Given the description of an element on the screen output the (x, y) to click on. 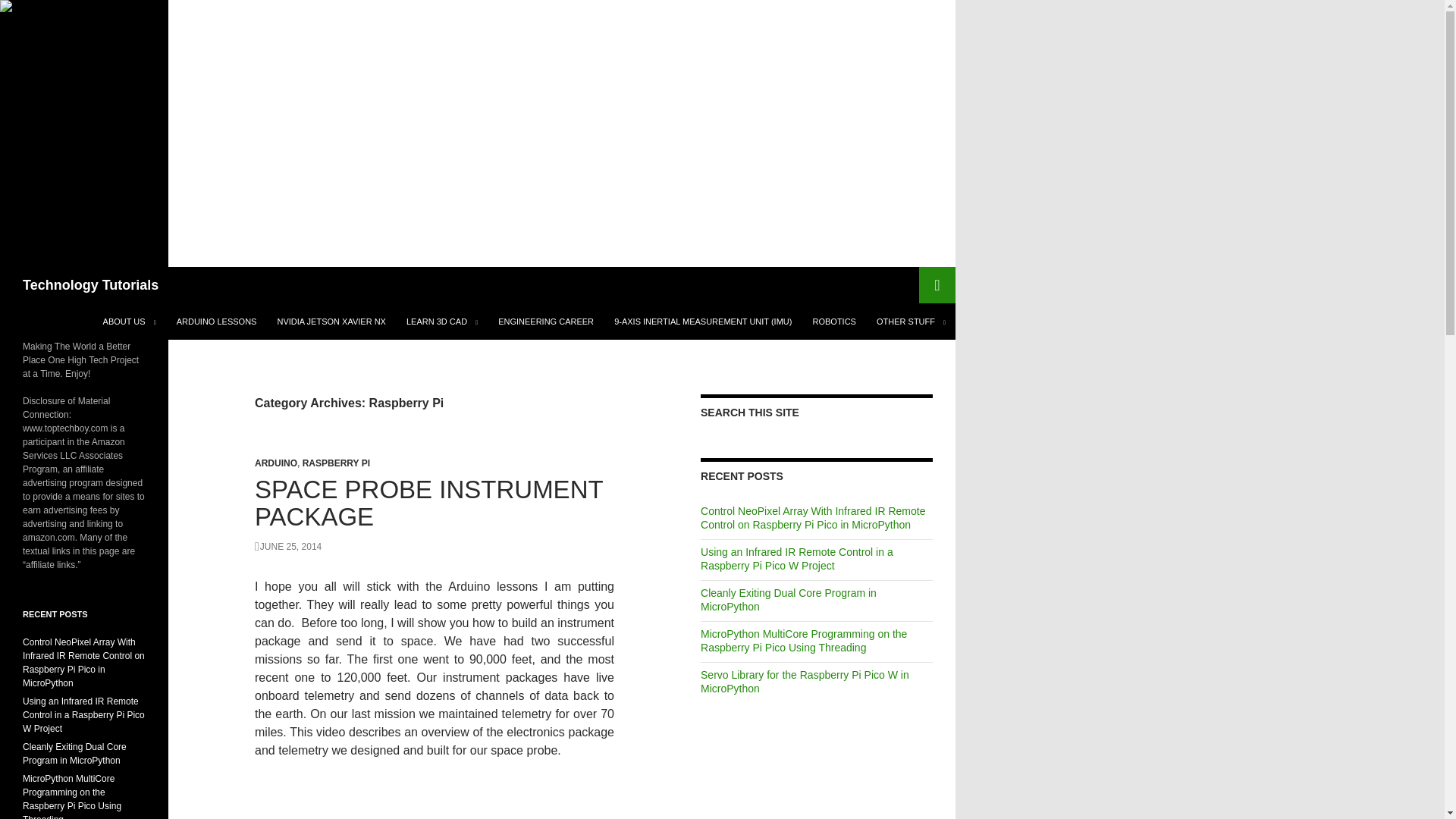
Cleanly Exiting Dual Core Program in MicroPython (74, 753)
ENGINEERING CAREER (545, 321)
Servo Library for the Raspberry Pi Pico W in MicroPython (804, 681)
Technology Tutorials (90, 284)
OTHER STUFF (911, 321)
SPACE PROBE INSTRUMENT PACKAGE (428, 502)
ROBOTICS (833, 321)
ABOUT US (129, 321)
LEARN 3D CAD (441, 321)
ARDUINO (275, 462)
Cleanly Exiting Dual Core Program in MicroPython (788, 599)
